Given the description of an element on the screen output the (x, y) to click on. 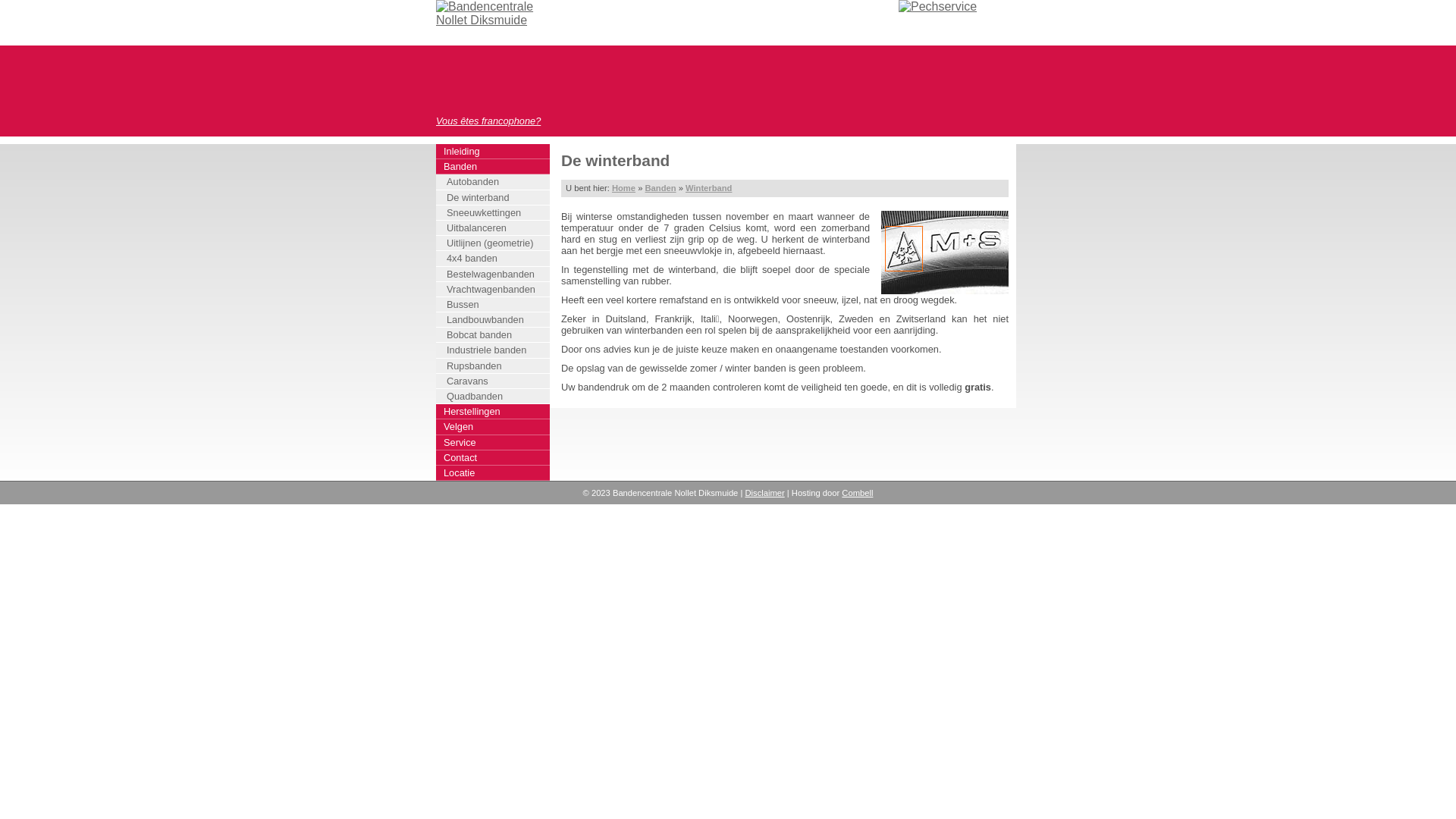
Bestelwagenbanden Element type: text (495, 274)
Disclaimer Element type: text (764, 492)
4x4 banden Element type: text (495, 258)
Caravans Element type: text (495, 381)
Winterband Element type: text (708, 187)
Uitlijnen (geometrie) Element type: text (495, 243)
Vrachtwagenbanden Element type: text (495, 289)
Sneeuwkettingen Element type: text (495, 212)
Banden Element type: text (492, 166)
Combell Element type: text (856, 492)
Herstellingen Element type: text (492, 411)
Industriele banden Element type: text (495, 349)
Bussen Element type: text (495, 304)
Contact Element type: text (492, 457)
Velgen Element type: text (492, 426)
Bobcat banden Element type: text (495, 334)
Rupsbanden Element type: text (495, 365)
Banden Element type: text (659, 187)
Landbouwbanden Element type: text (495, 319)
Uitbalanceren Element type: text (495, 227)
Quadbanden Element type: text (495, 396)
De winterband Element type: text (495, 197)
Autobanden Element type: text (495, 181)
Service Element type: text (492, 442)
Inleiding Element type: text (492, 151)
Locatie Element type: text (492, 472)
Home Element type: text (623, 187)
